Given the description of an element on the screen output the (x, y) to click on. 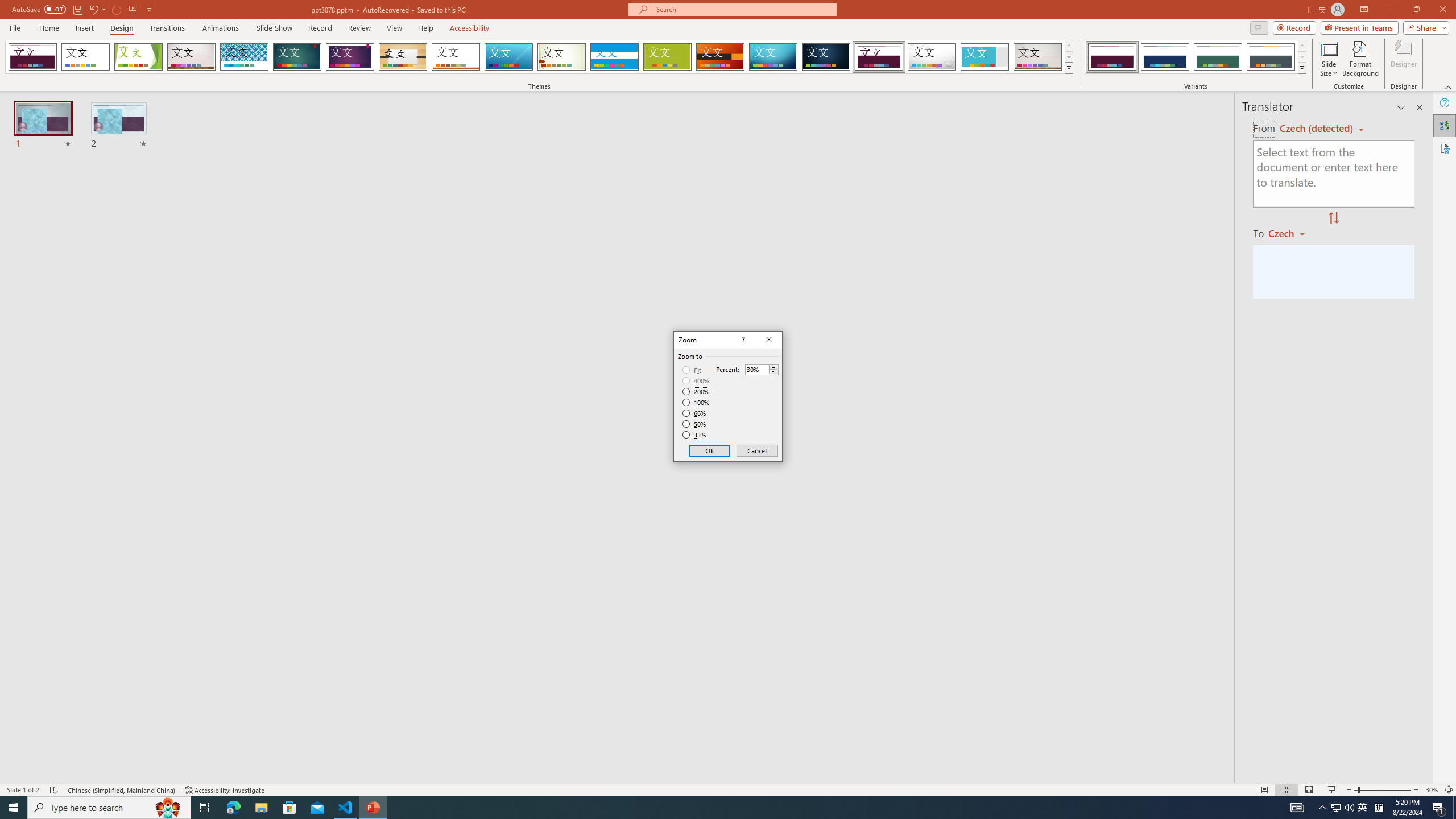
Ion (296, 56)
Circuit (772, 56)
Organic (403, 56)
66% (694, 412)
Droplet (931, 56)
100% (696, 402)
Dividend (879, 56)
Frame (984, 56)
